Given the description of an element on the screen output the (x, y) to click on. 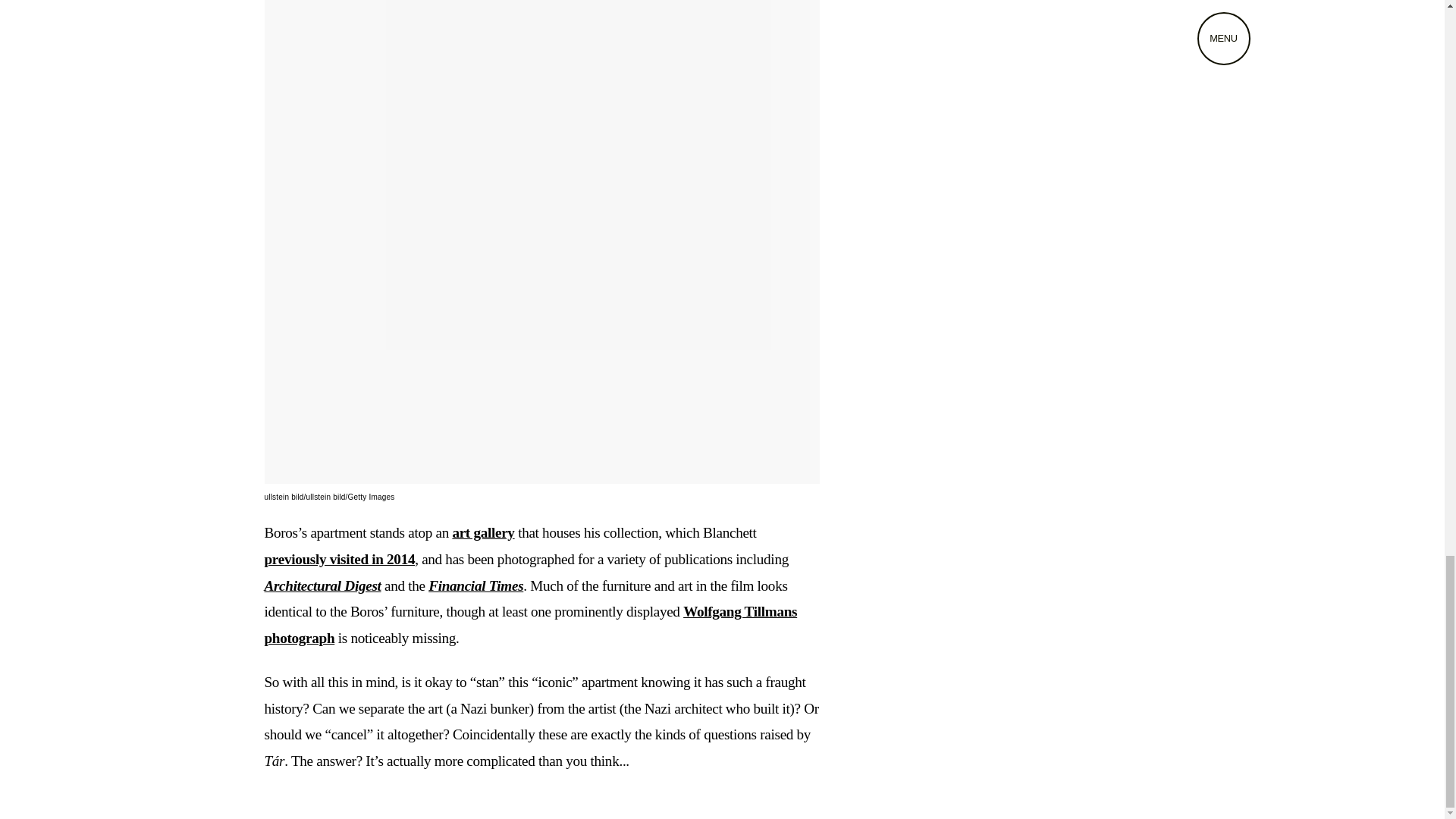
art gallery (482, 532)
Financial Times (475, 585)
previously visited in 2014 (338, 559)
Wolfgang Tillmans photograph (529, 624)
Architectural Digest (321, 585)
